Given the description of an element on the screen output the (x, y) to click on. 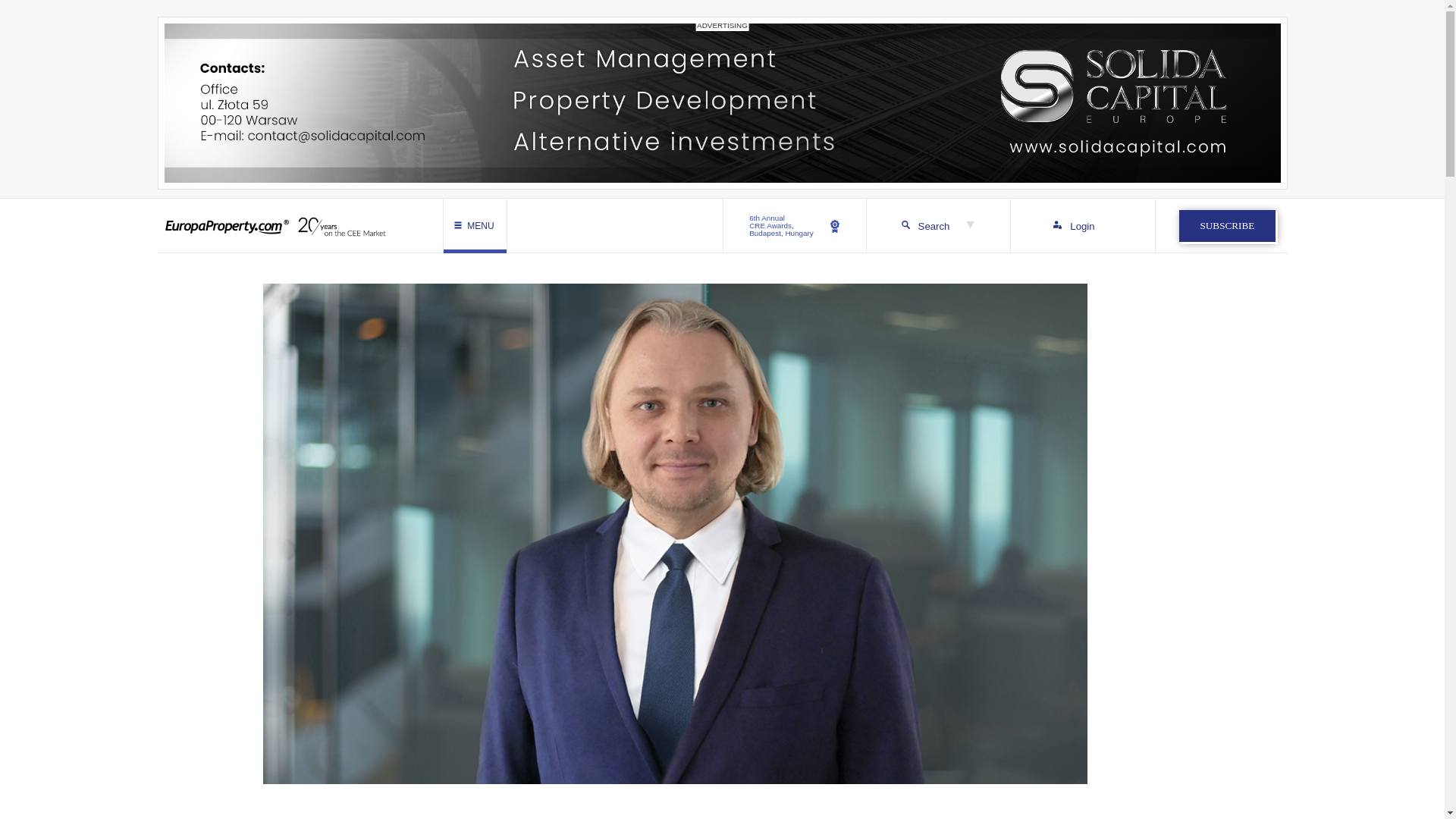
SUBSCRIBE (1227, 225)
Login (794, 226)
